Given the description of an element on the screen output the (x, y) to click on. 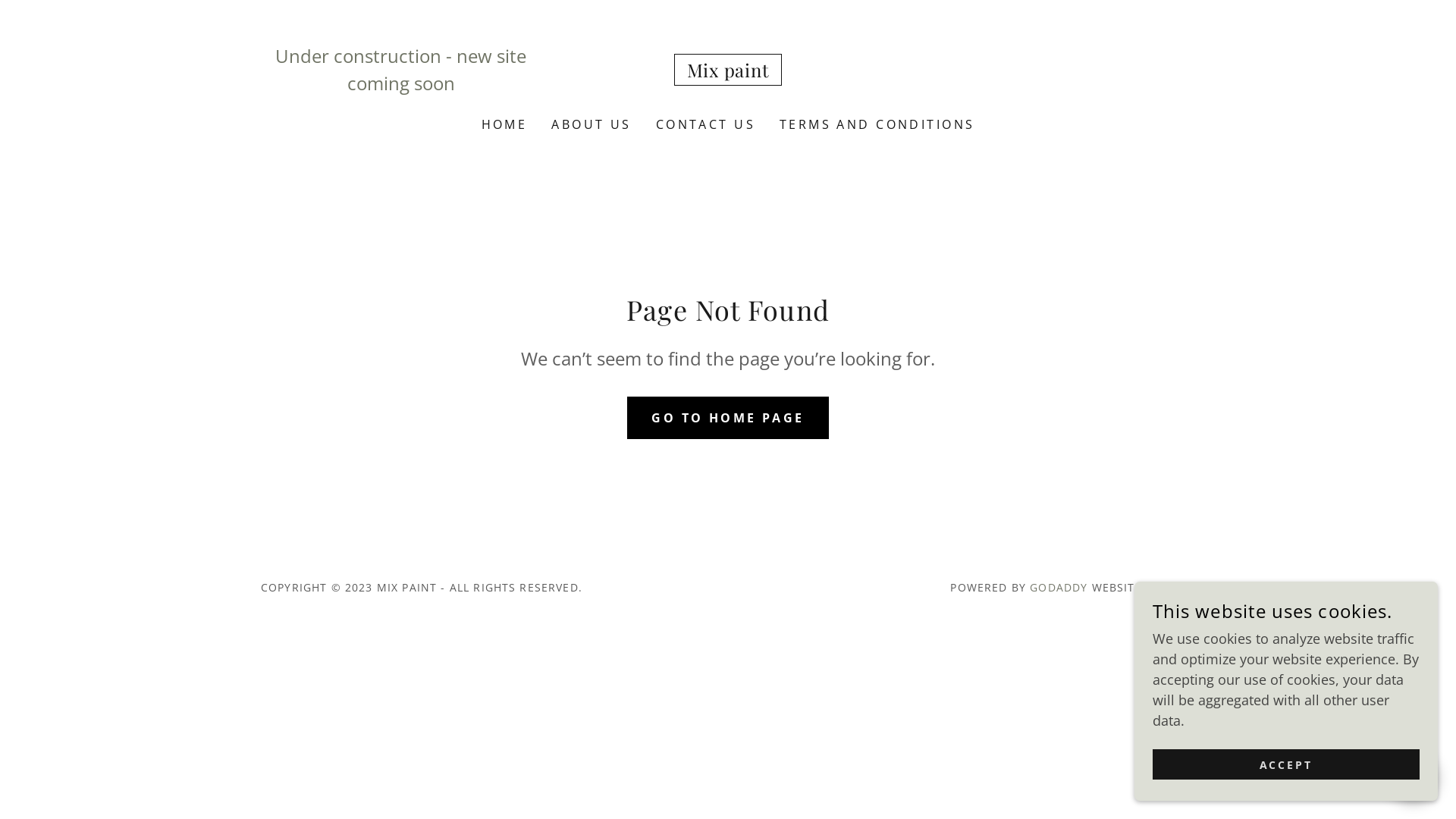
CONTACT US Element type: text (705, 124)
TERMS AND CONDITIONS Element type: text (877, 124)
GODADDY Element type: text (1058, 587)
ABOUT US Element type: text (590, 124)
HOME Element type: text (504, 124)
Mix paint Element type: text (728, 71)
ACCEPT Element type: text (1285, 764)
GO TO HOME PAGE Element type: text (727, 416)
